Given the description of an element on the screen output the (x, y) to click on. 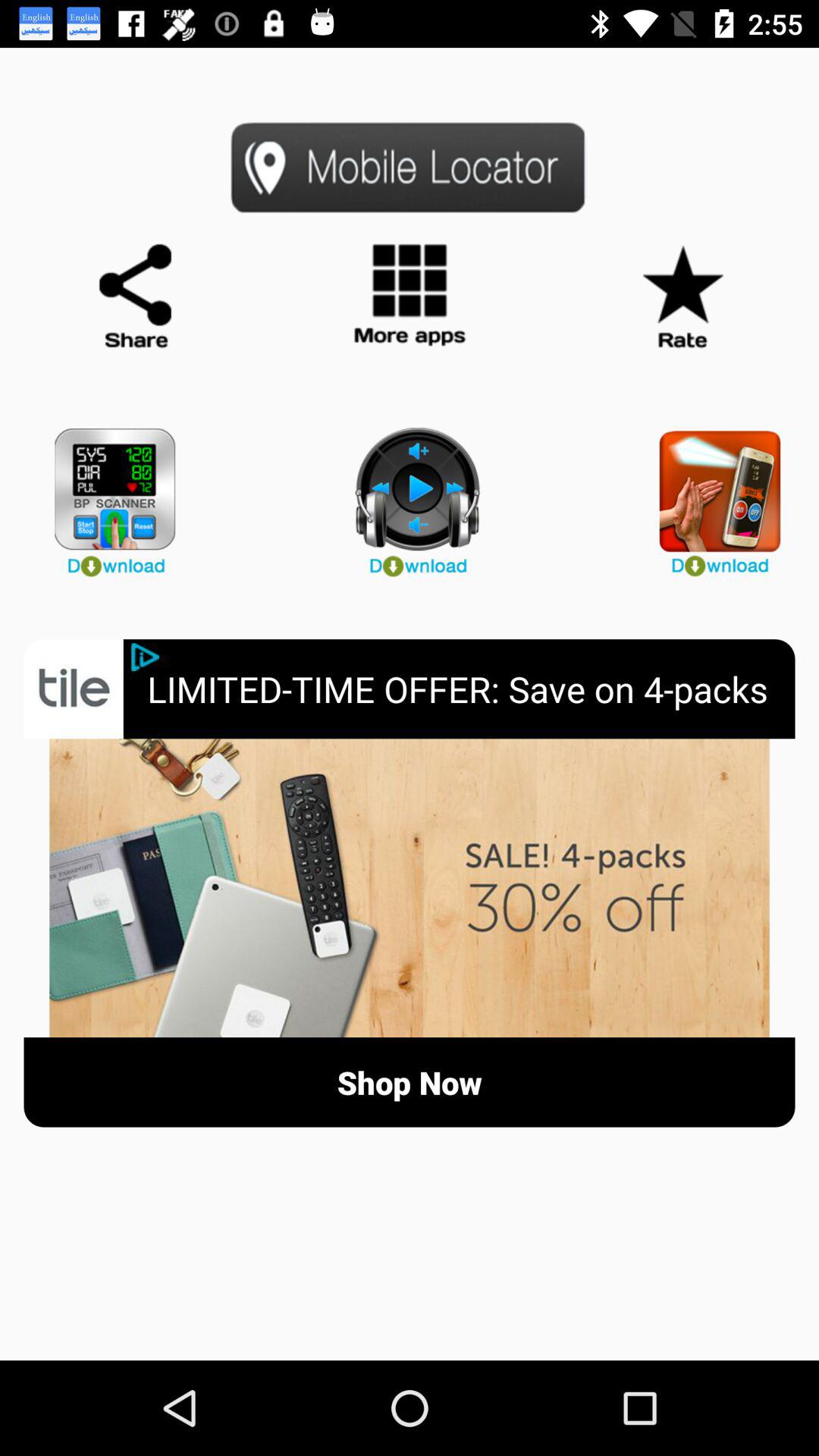
launch the button above shop now item (409, 887)
